Given the description of an element on the screen output the (x, y) to click on. 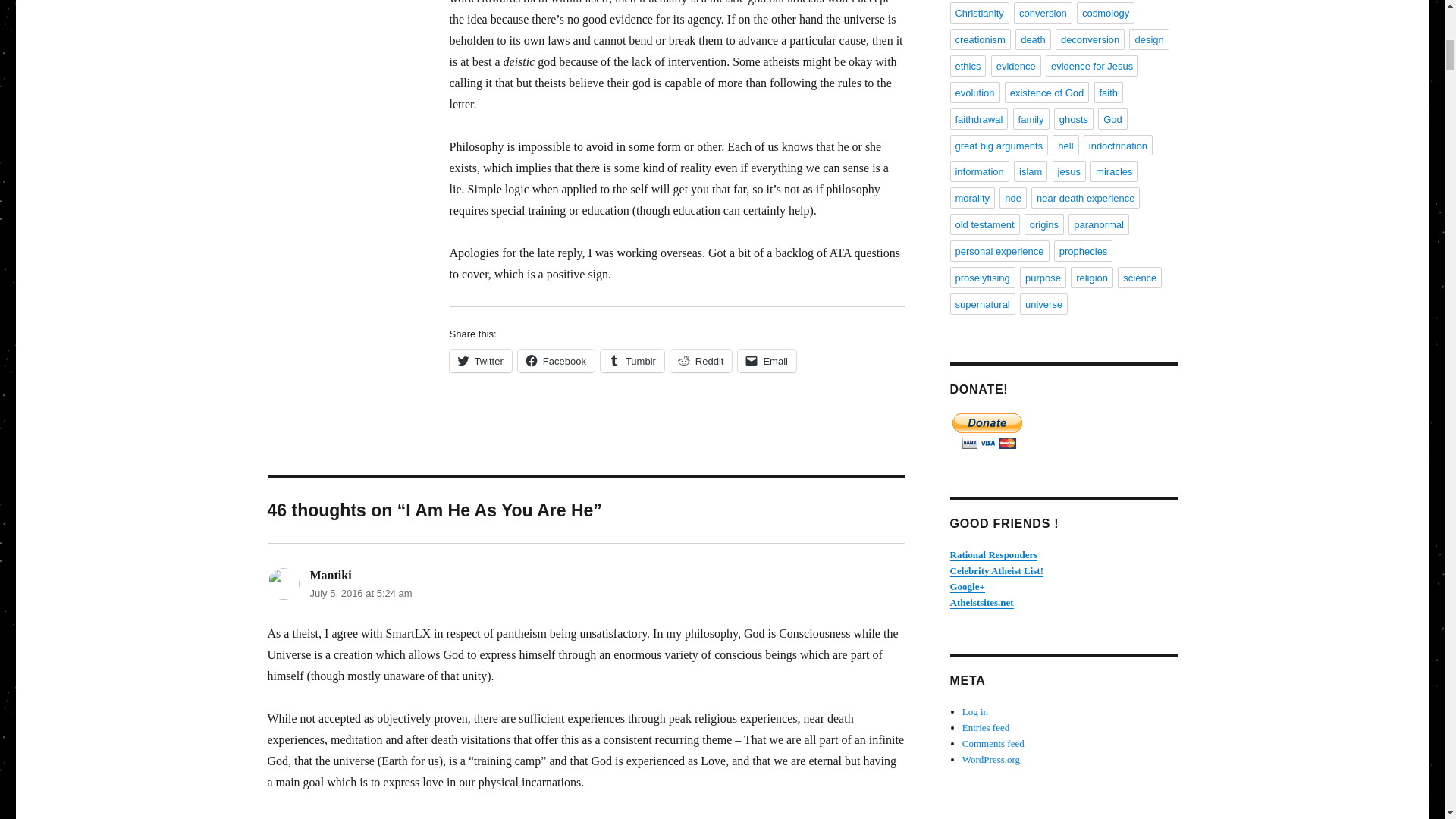
Click to share on Reddit (700, 360)
Click to email a link to a friend (767, 360)
Tumblr (631, 360)
Facebook (556, 360)
Click to share on Facebook (556, 360)
Reddit (700, 360)
July 5, 2016 at 5:24 am (360, 593)
Click to share on Twitter (479, 360)
Email (767, 360)
Click to share on Tumblr (631, 360)
Twitter (479, 360)
